Given the description of an element on the screen output the (x, y) to click on. 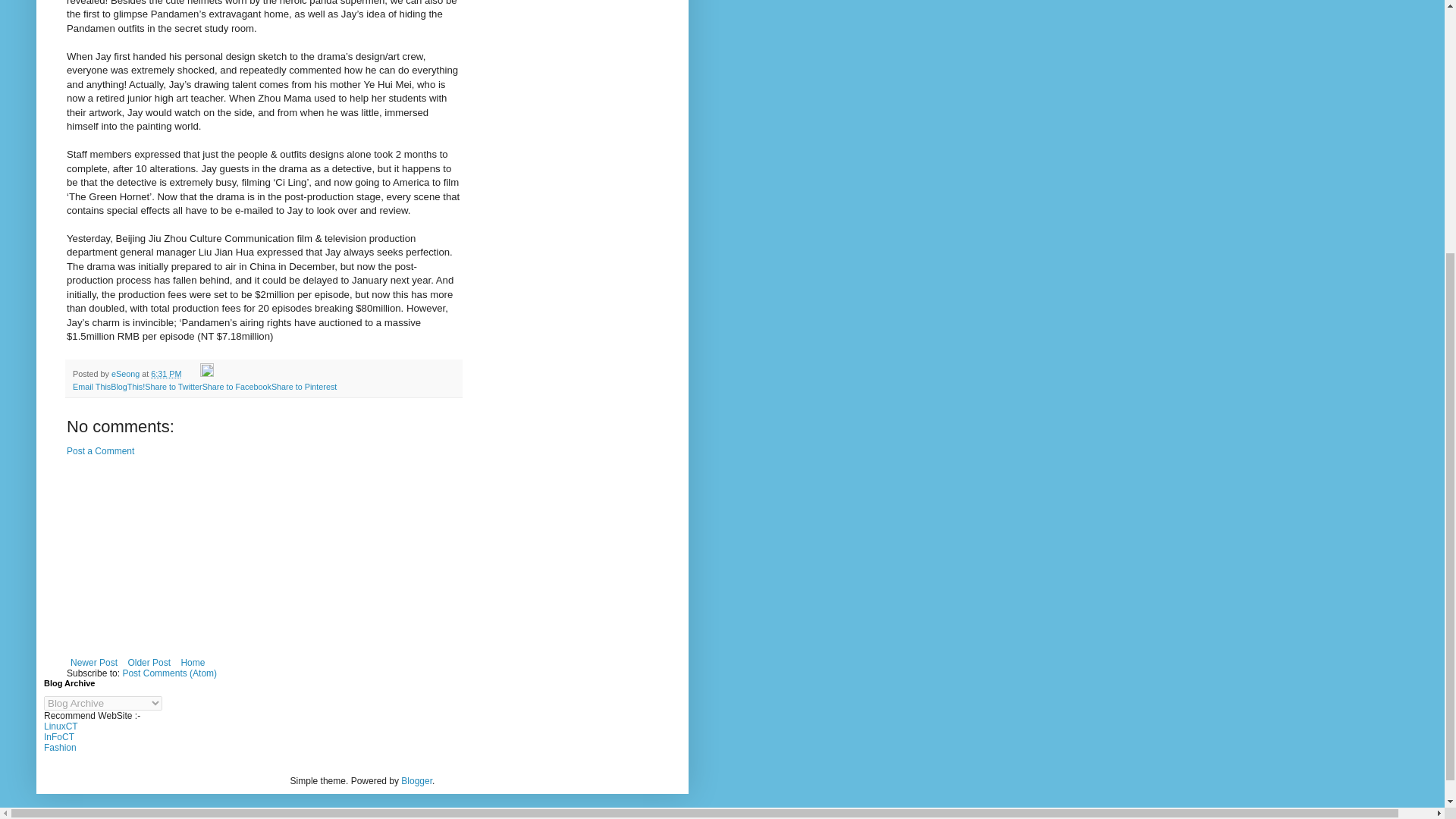
Share to Twitter (173, 386)
LinuxCT (60, 726)
6:31 PM (165, 373)
Share to Facebook (236, 386)
Older Post (148, 662)
Share to Twitter (173, 386)
Newer Post (93, 662)
InFoCT (58, 737)
author profile (126, 373)
Share to Pinterest (303, 386)
Edit Post (207, 373)
Older Post (148, 662)
BlogThis! (127, 386)
eSeong (126, 373)
Newer Post (93, 662)
